Given the description of an element on the screen output the (x, y) to click on. 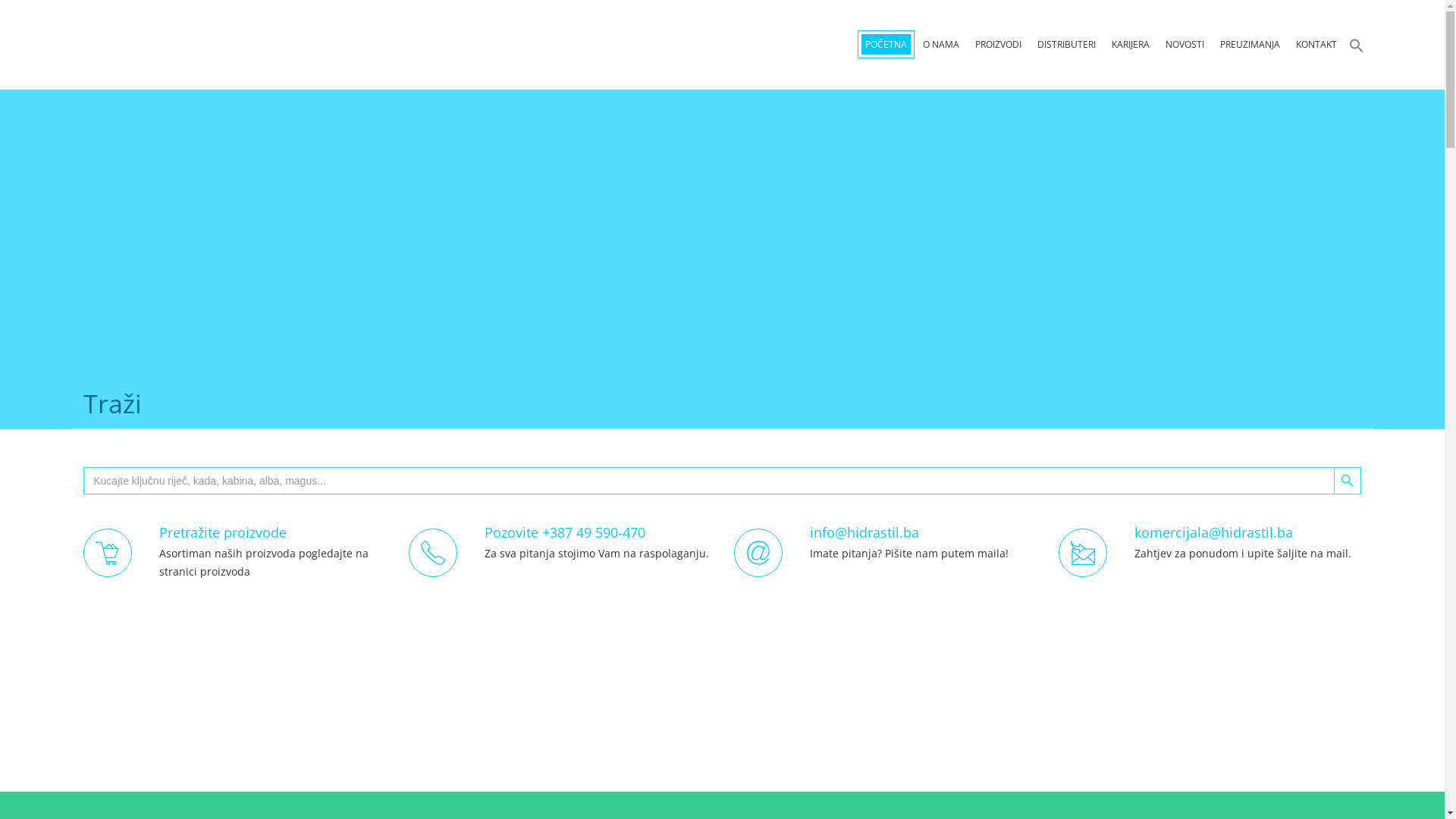
KONTAKT Element type: text (1316, 45)
info@hidrastil.ba Element type: text (864, 532)
komercijala@hidrastil.ba Element type: text (1213, 532)
KARIJERA Element type: text (1130, 45)
PROIZVODI Element type: text (998, 45)
Search Button Element type: text (1347, 480)
NOVOSTI Element type: text (1184, 45)
Pozovite +387 49 590-470 Element type: text (564, 532)
PREUZIMANJA Element type: text (1249, 45)
O NAMA Element type: text (941, 45)
DISTRIBUTERI Element type: text (1066, 45)
